Given the description of an element on the screen output the (x, y) to click on. 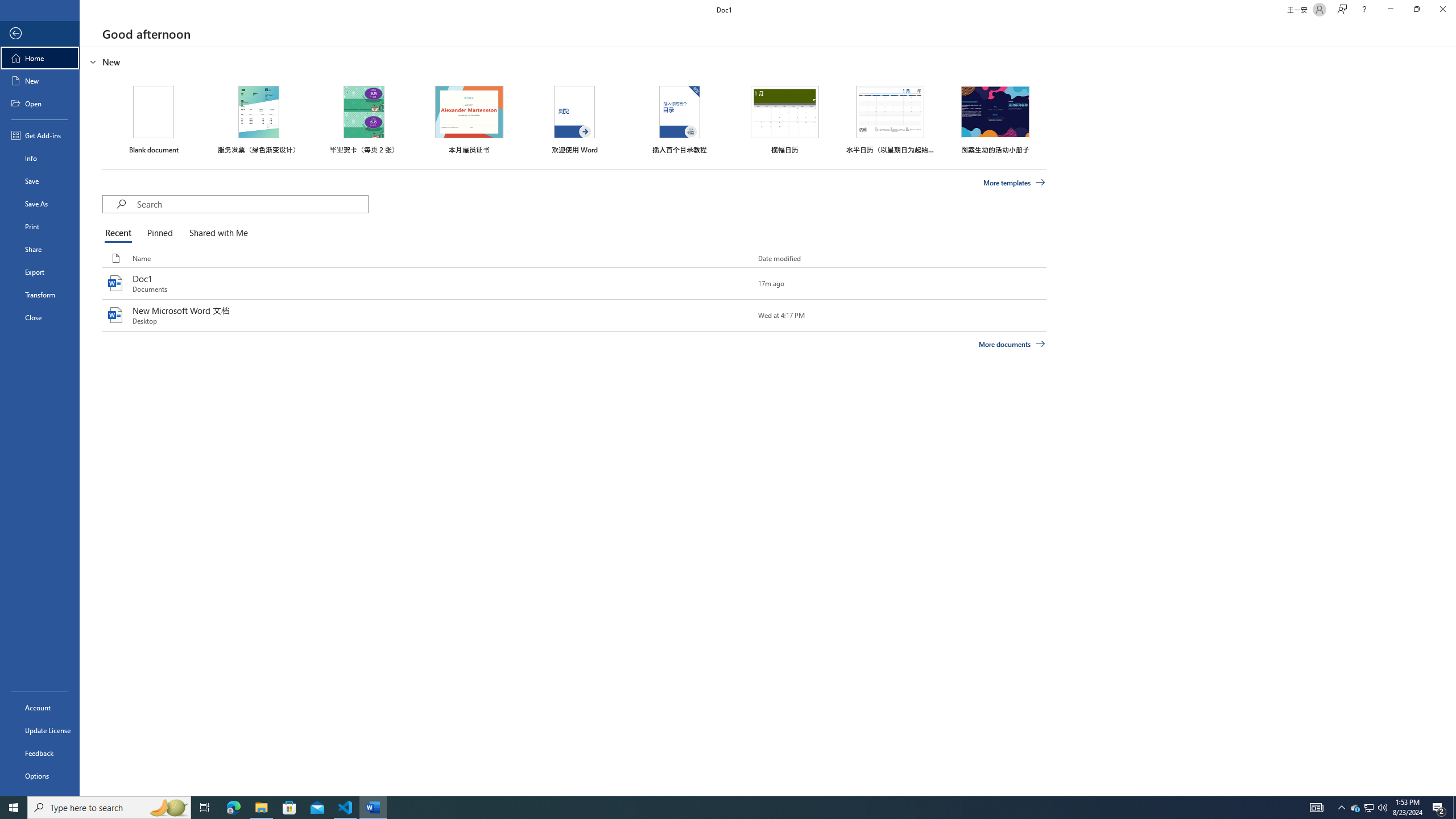
New (40, 80)
Class: NetUIScrollBar (1450, 421)
Search (252, 203)
Transform (40, 294)
Hide or show region (92, 61)
Home (40, 57)
Info (40, 157)
Account (40, 707)
Back (40, 33)
Update License (40, 730)
Close (1442, 9)
